Given the description of an element on the screen output the (x, y) to click on. 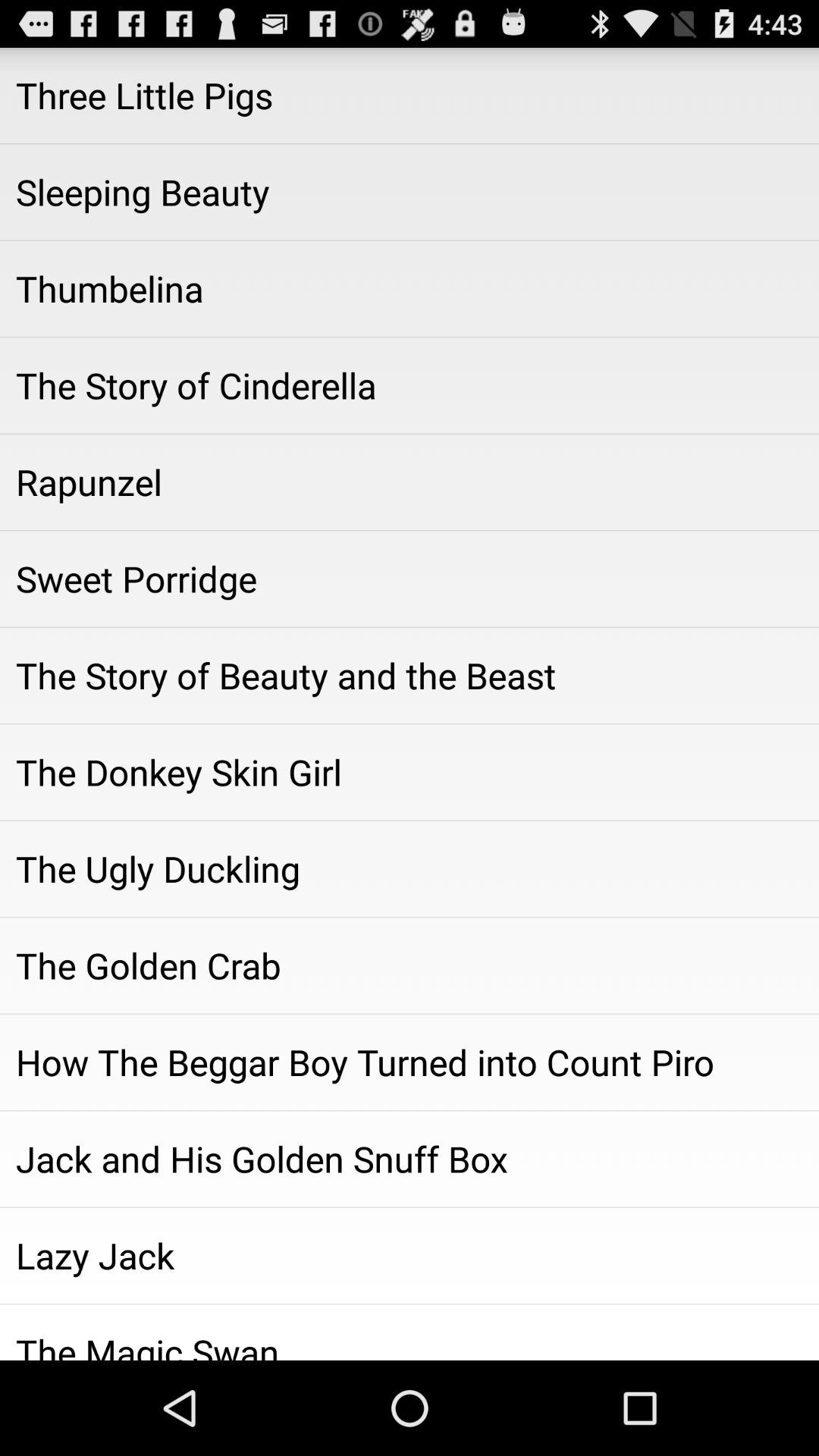
choose the item above the story of (409, 578)
